Given the description of an element on the screen output the (x, y) to click on. 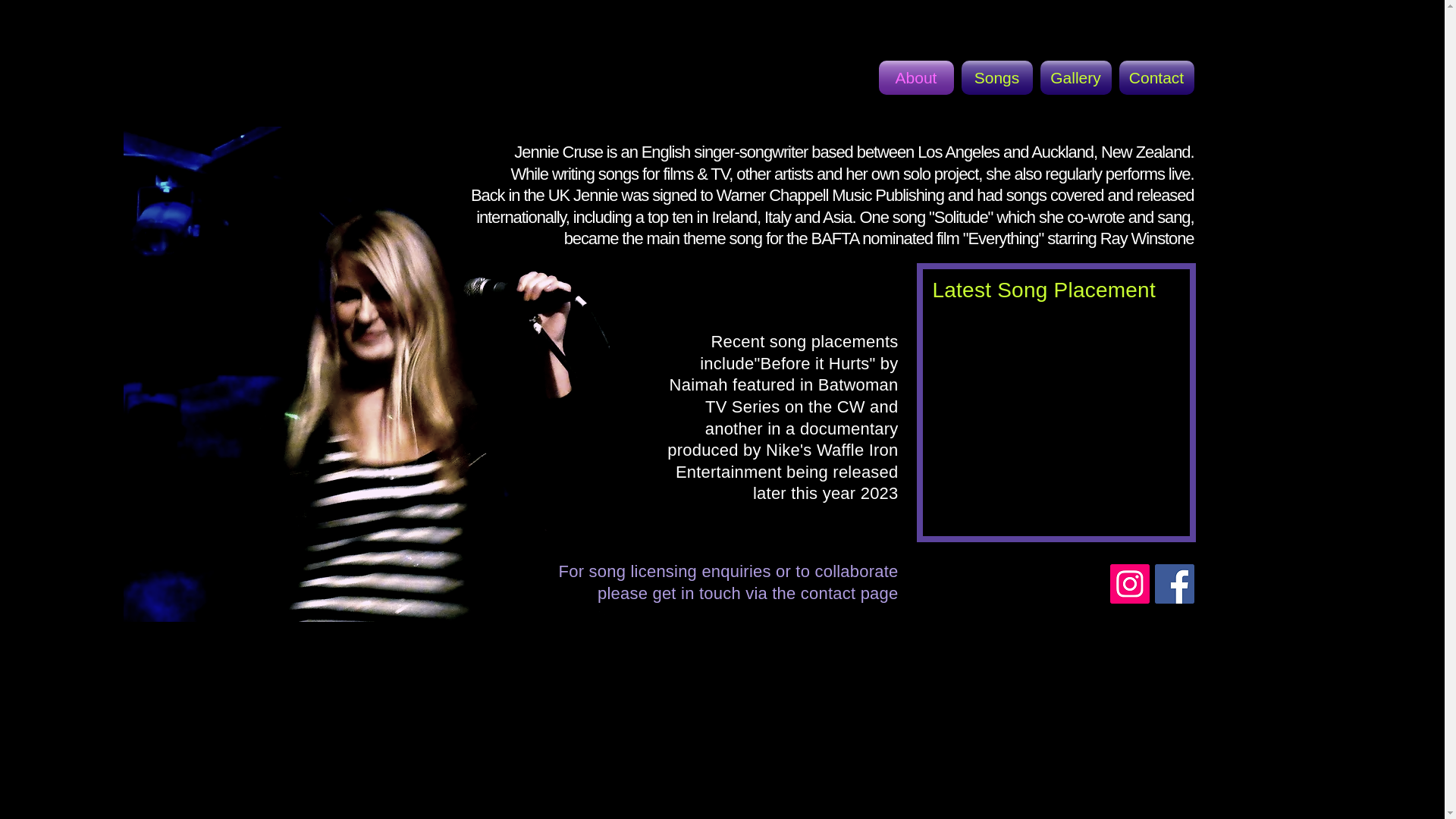
Songs (995, 77)
Gallery (1075, 77)
About (916, 77)
Contact (1154, 77)
